Given the description of an element on the screen output the (x, y) to click on. 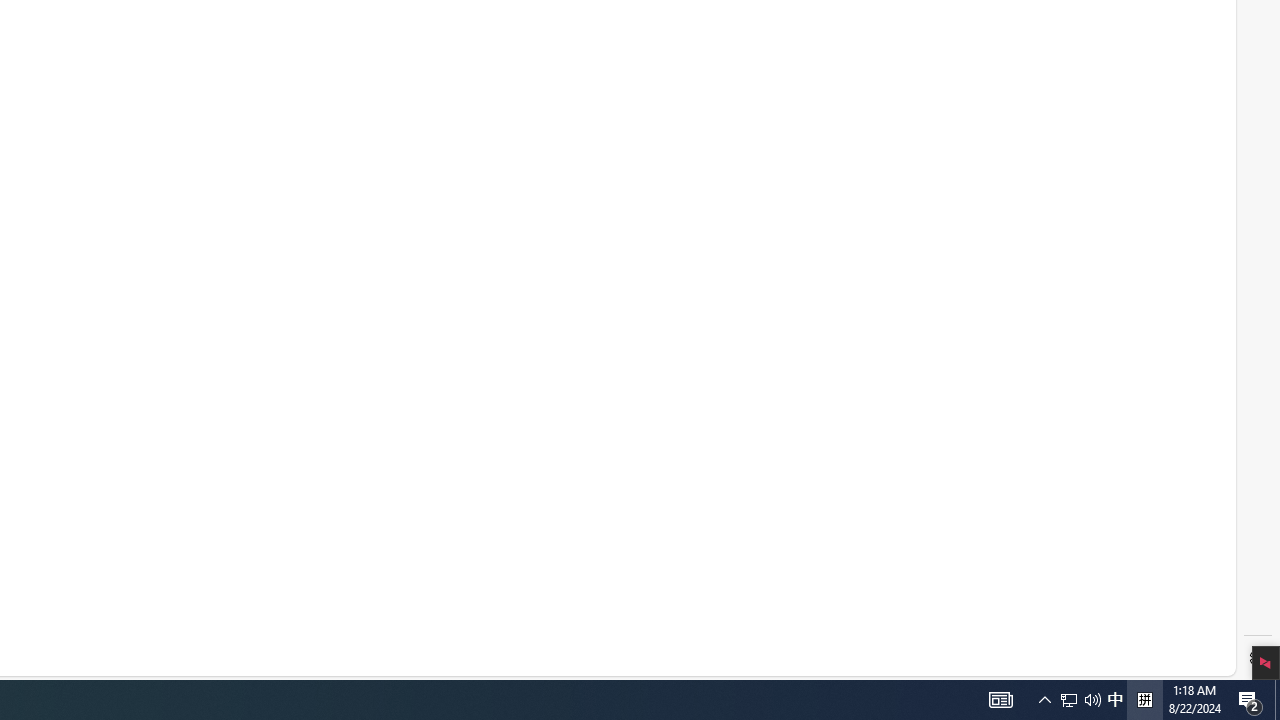
Settings (1258, 658)
